Given the description of an element on the screen output the (x, y) to click on. 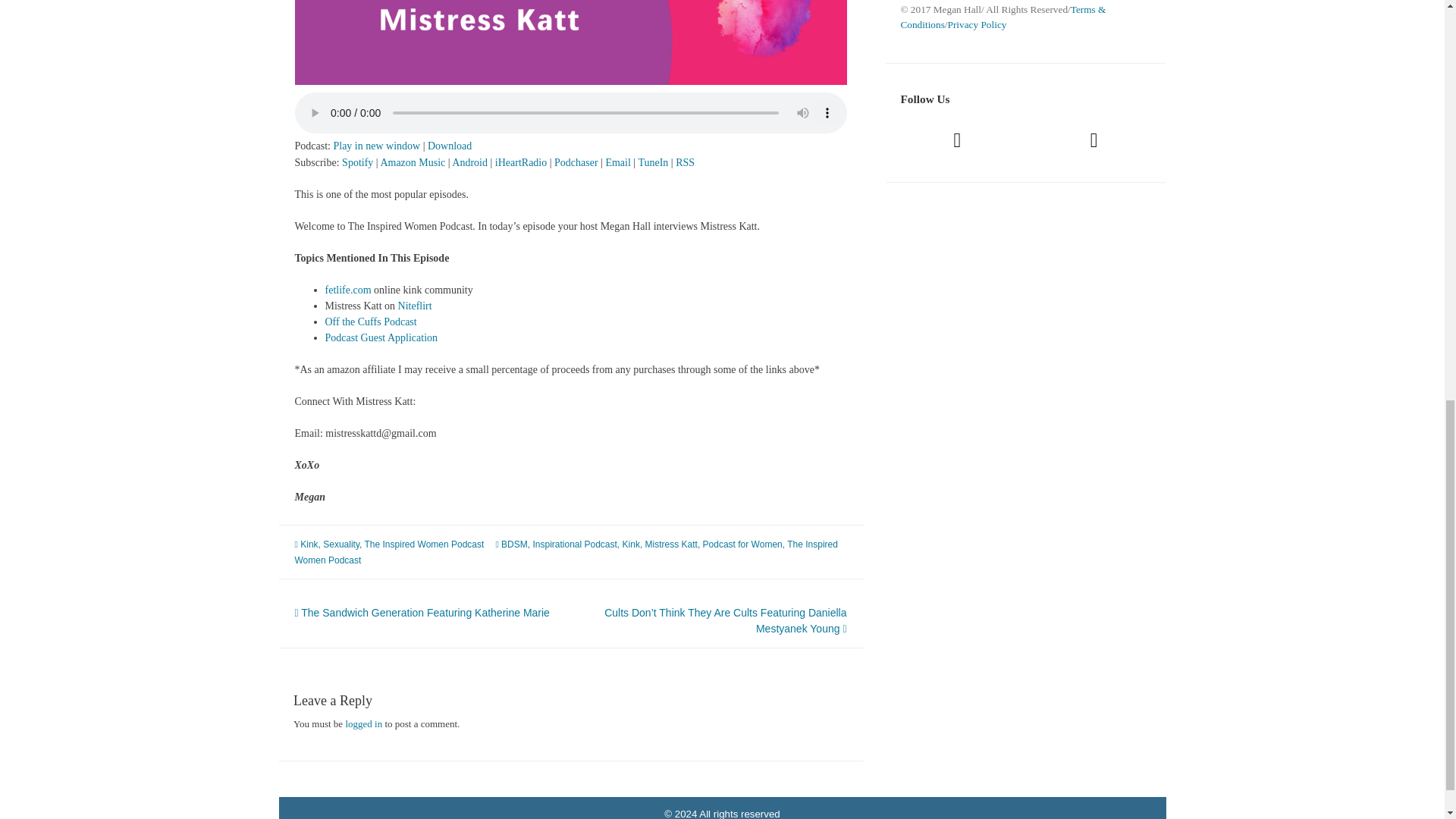
BDSM (513, 543)
Play in new window (376, 145)
Subscribe on Amazon Music (412, 162)
RSS (684, 162)
Kink (631, 543)
Spotify (357, 162)
Niteflirt (414, 306)
logged in (363, 723)
fetlife.com (347, 289)
TuneIn (652, 162)
